Given the description of an element on the screen output the (x, y) to click on. 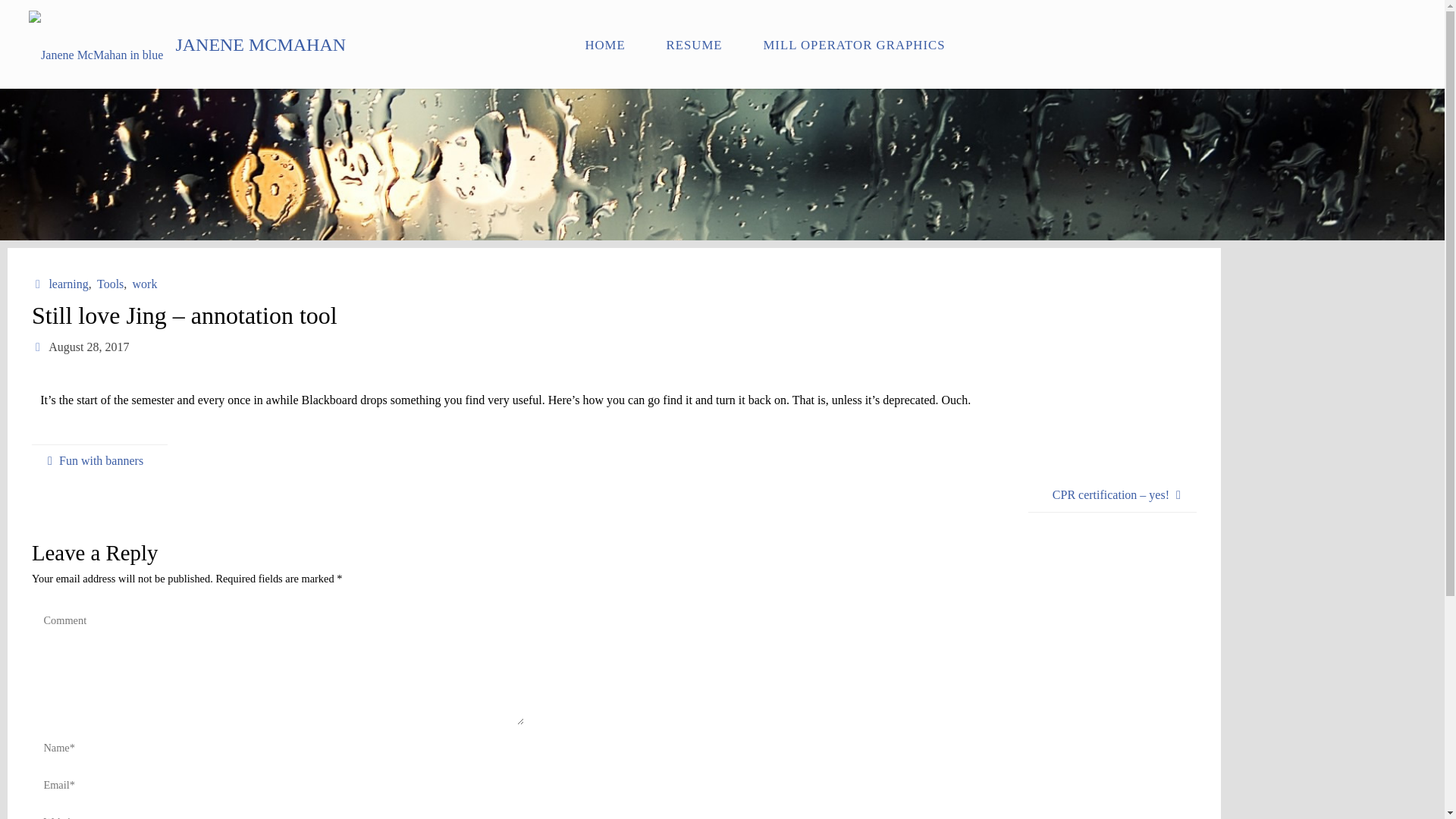
Categories (39, 283)
RESUME (694, 44)
Alaskan since 1968 (260, 43)
Tools (108, 283)
MILL OPERATOR GRAPHICS (854, 44)
Janene McMahan (96, 43)
Fun with banners (99, 461)
JANENE MCMAHAN (260, 43)
HOME (604, 44)
learning (67, 283)
